Given the description of an element on the screen output the (x, y) to click on. 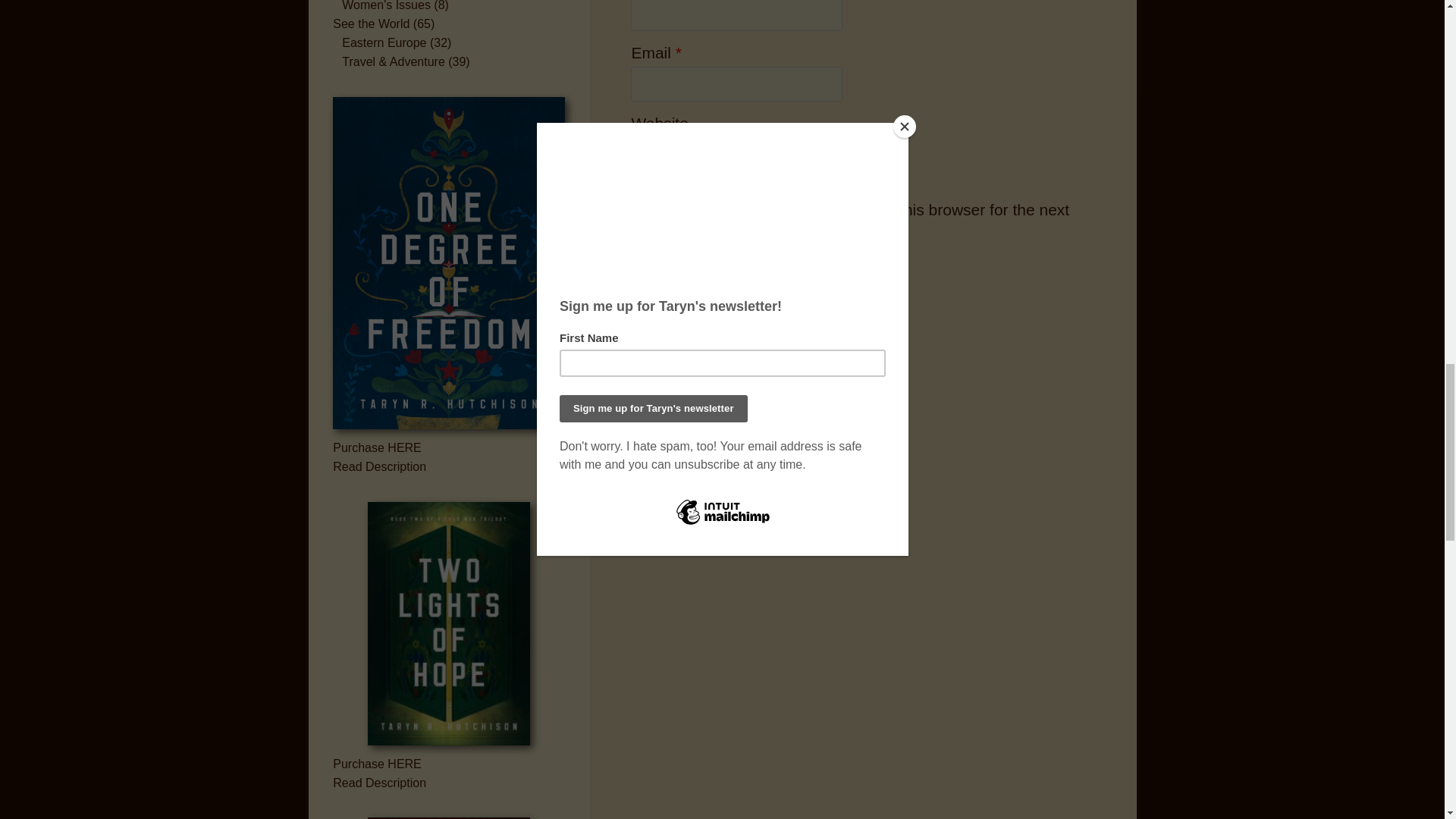
Post Comment (673, 272)
Post Comment (673, 272)
yes (638, 189)
